Given the description of an element on the screen output the (x, y) to click on. 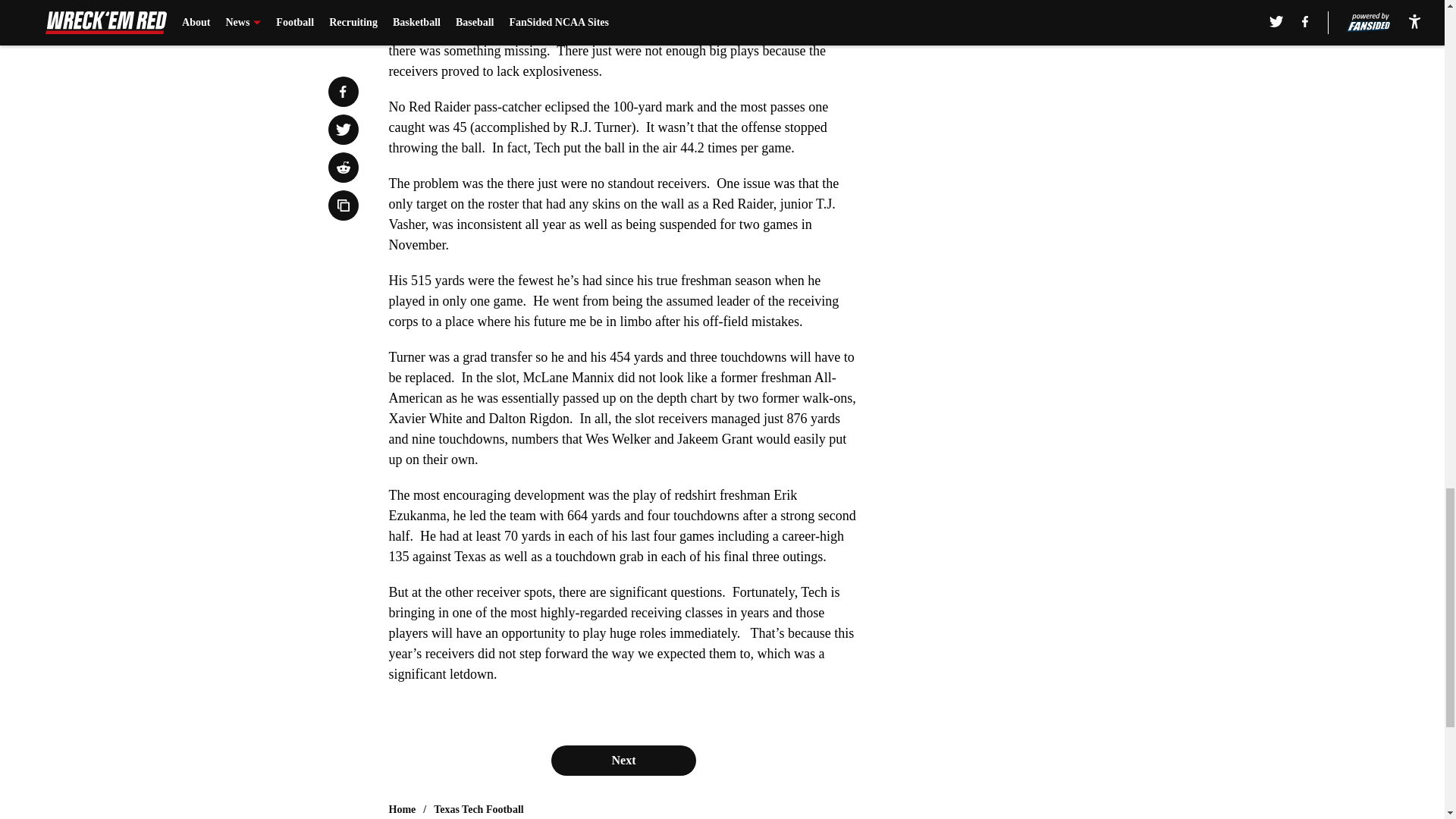
Home (401, 809)
Texas Tech Football (478, 809)
Next (622, 760)
